Given the description of an element on the screen output the (x, y) to click on. 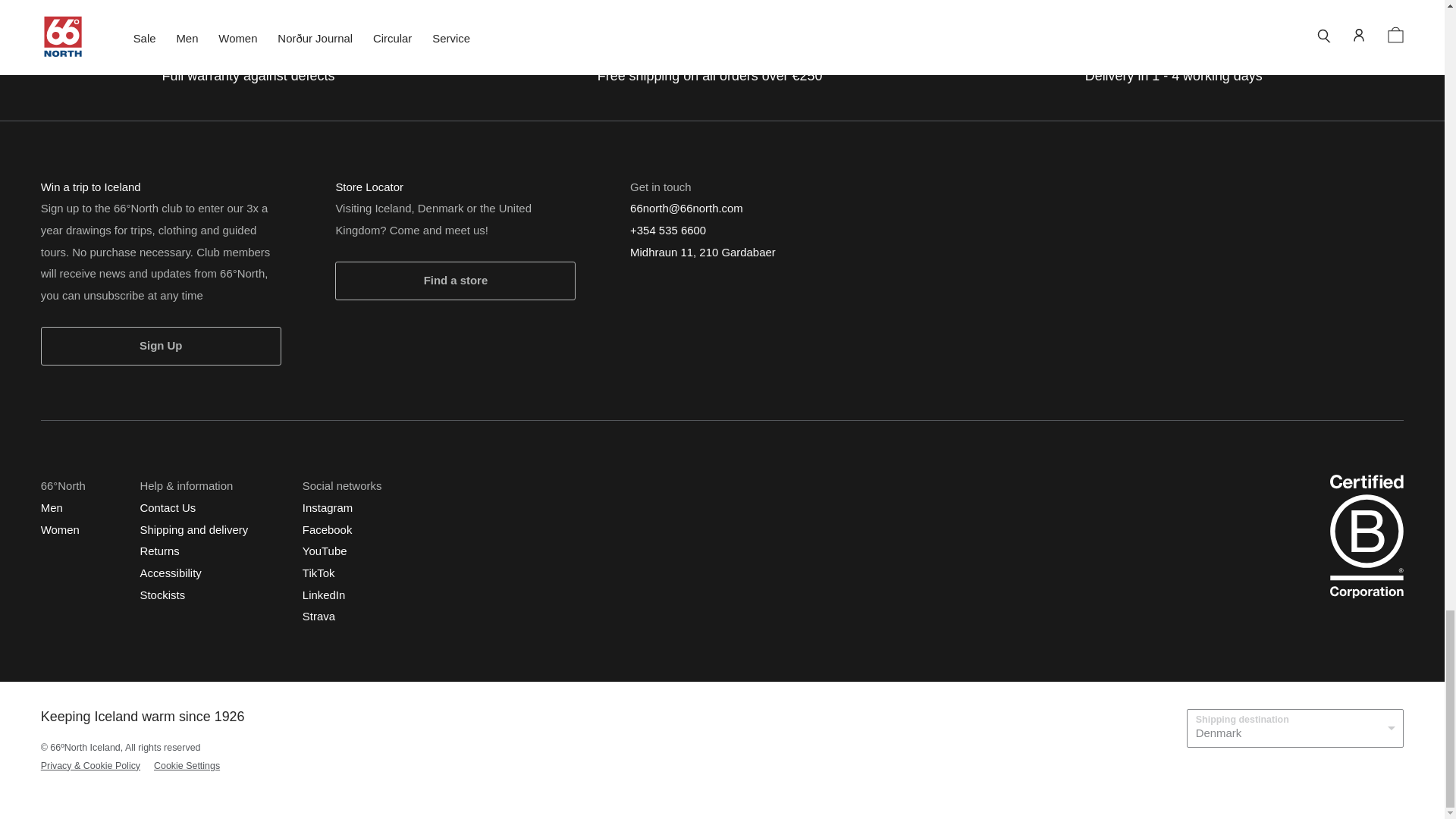
Men (51, 507)
Returns (159, 550)
Instagram (327, 507)
Stockists (161, 594)
Facebook (327, 528)
YouTube (324, 550)
Accessibility (169, 572)
Contact Us (167, 507)
Sign Up (160, 345)
Find a store (454, 280)
Shipping and delivery (193, 528)
Women (60, 528)
